Given the description of an element on the screen output the (x, y) to click on. 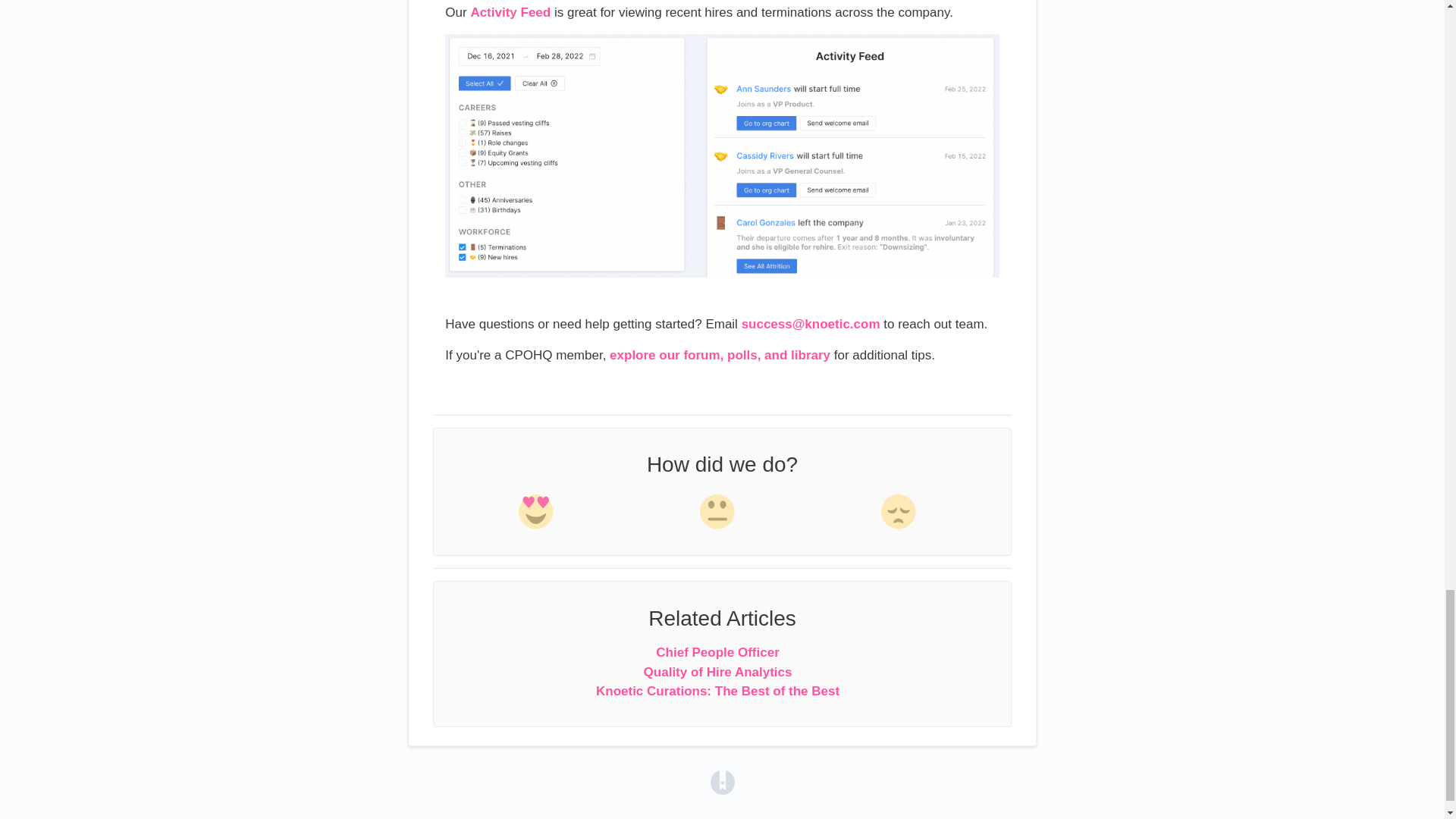
Activity Feed (510, 11)
Chief People Officer (717, 652)
explore our forum, polls, and library (719, 355)
Powered by HelpDocs (721, 780)
Knoetic Curations: The Best of the Best (717, 690)
Quality of Hire Analytics (717, 672)
